Given the description of an element on the screen output the (x, y) to click on. 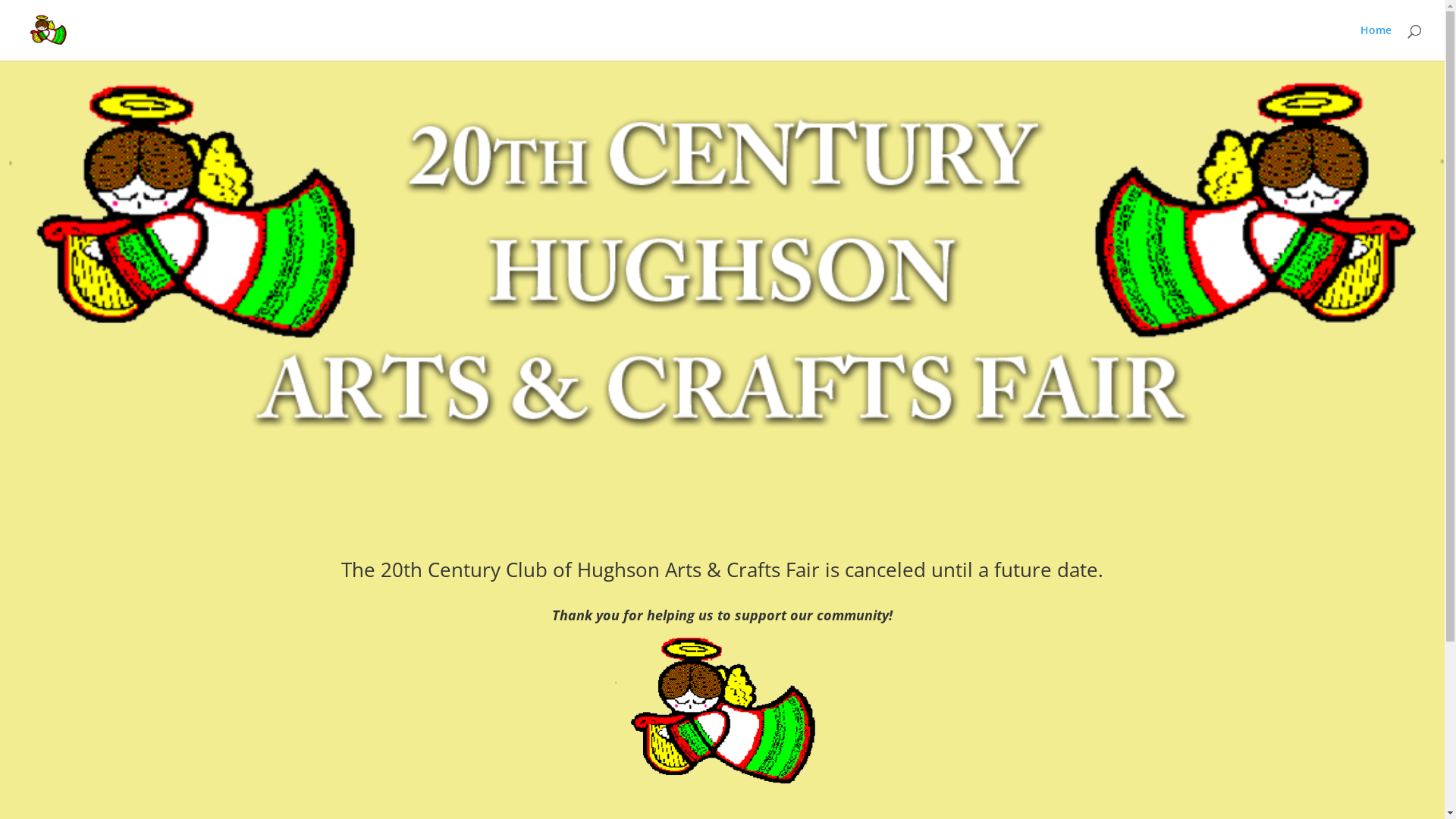
Home Element type: text (1375, 42)
